Given the description of an element on the screen output the (x, y) to click on. 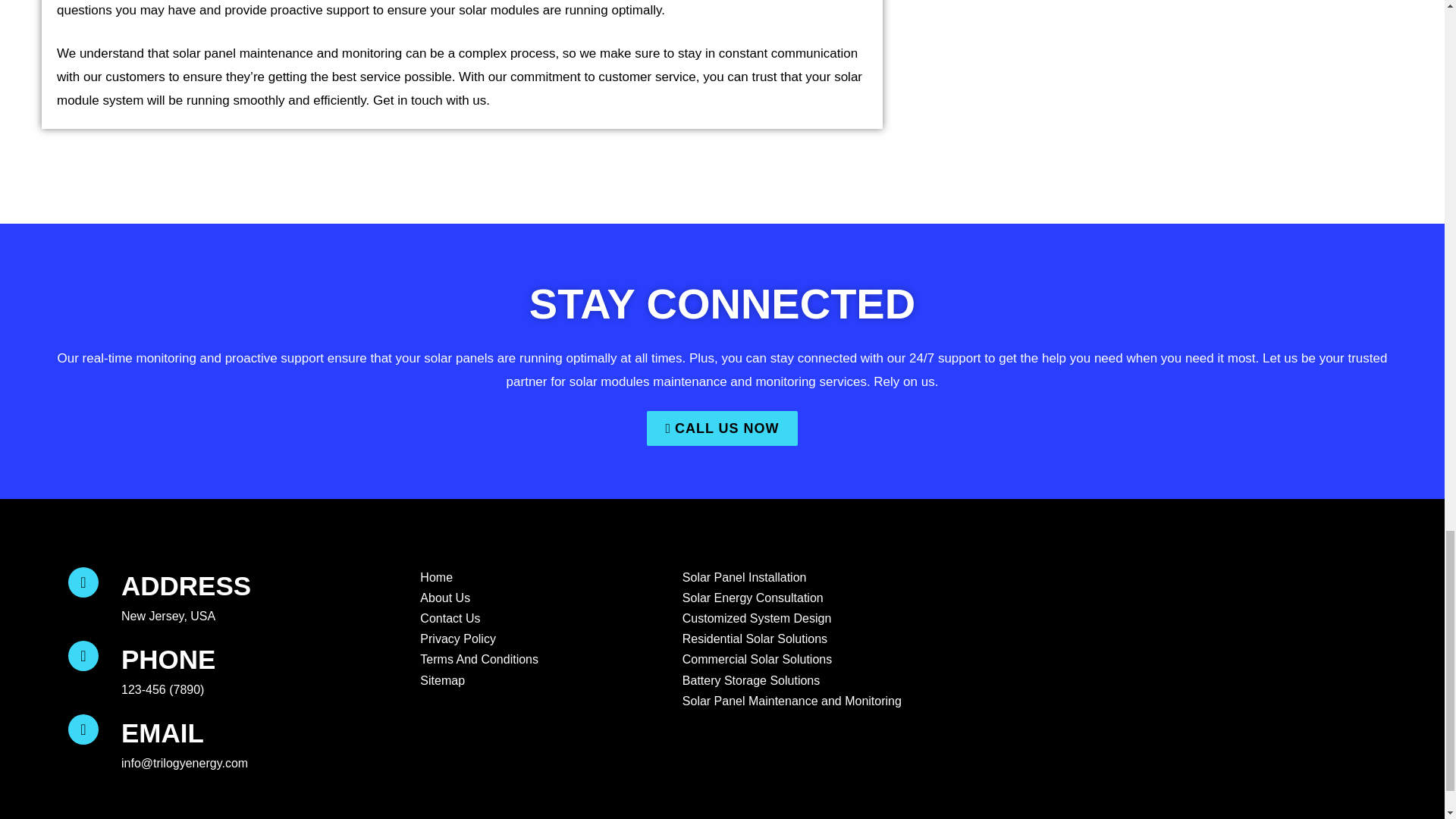
CALL US NOW (721, 428)
Home (434, 577)
Solar Panel Maintenance and Monitoring (790, 701)
Privacy Policy (456, 638)
Solar Energy Consultation (751, 598)
Solar Panel Installation (742, 577)
Customized System Design (755, 618)
Sitemap (440, 680)
Residential Solar Solutions (753, 638)
Terms And Conditions (477, 659)
Commercial Solar Solutions (755, 659)
About Us (443, 598)
Contact Us (448, 618)
Battery Storage Solutions (749, 680)
